Given the description of an element on the screen output the (x, y) to click on. 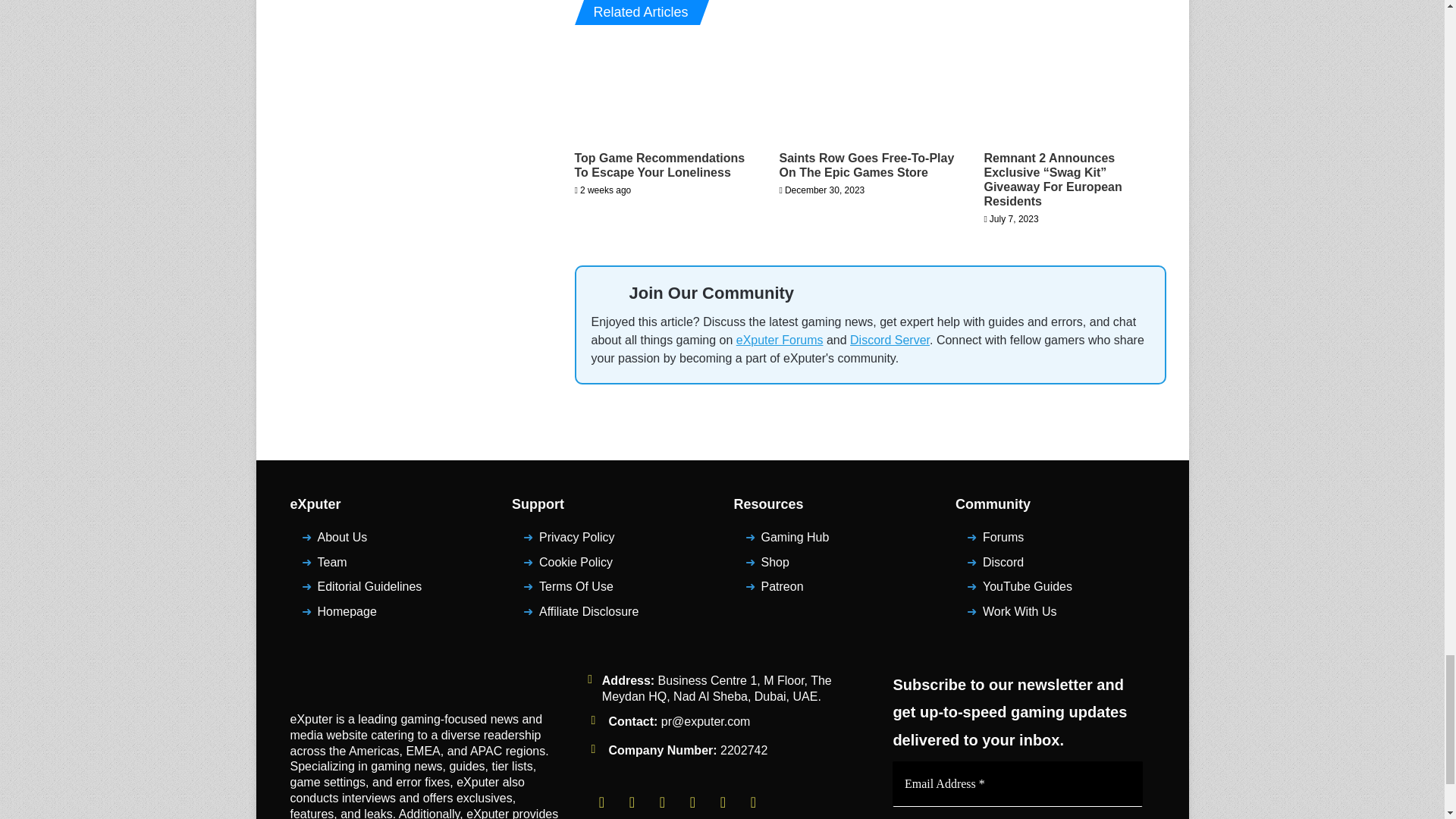
Email Address (1017, 783)
